Given the description of an element on the screen output the (x, y) to click on. 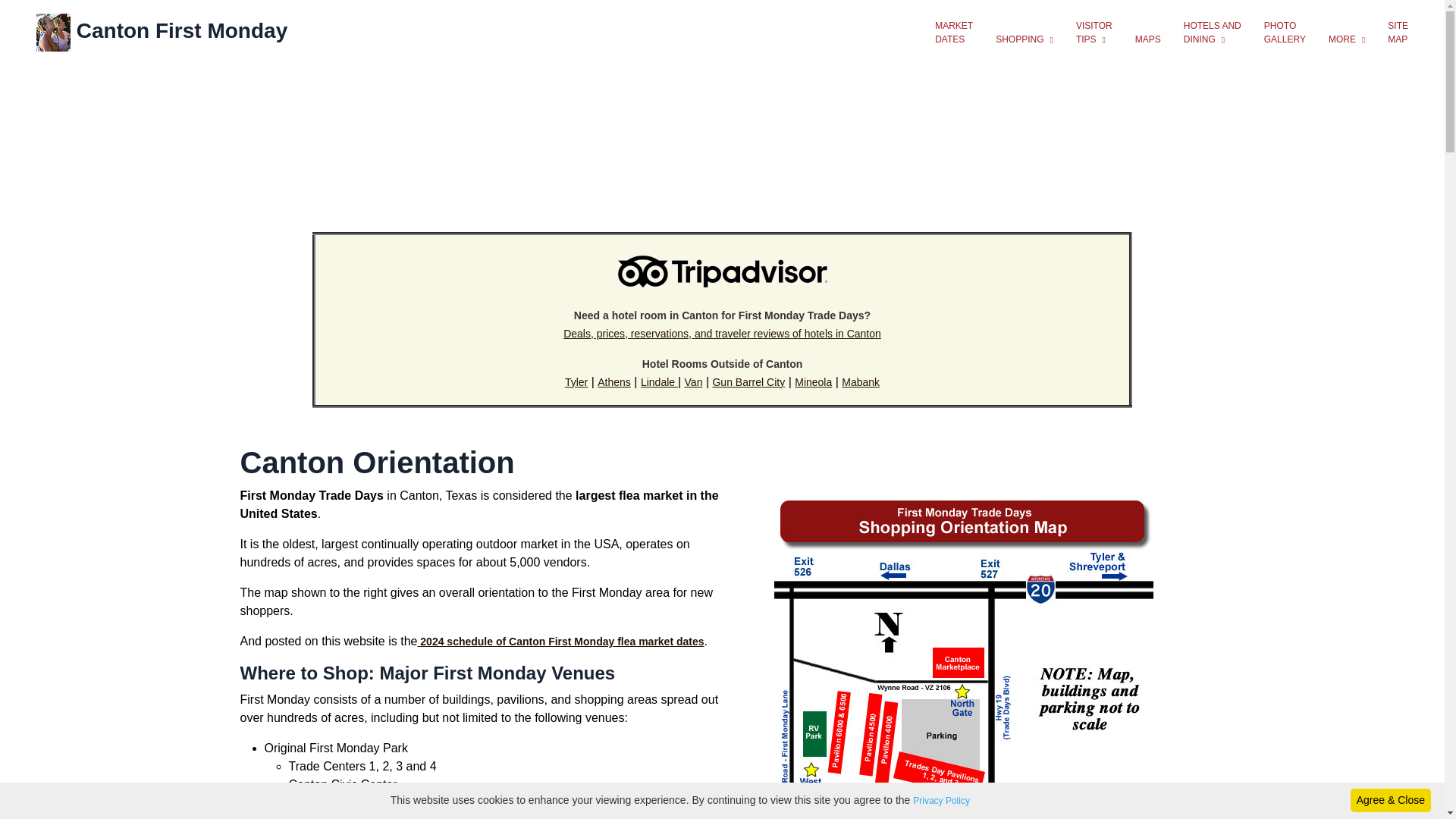
Tyler (576, 381)
Athens (613, 381)
Lindale (659, 381)
Advertisement (722, 173)
Canton First Monday (161, 32)
Van (693, 381)
